Given the description of an element on the screen output the (x, y) to click on. 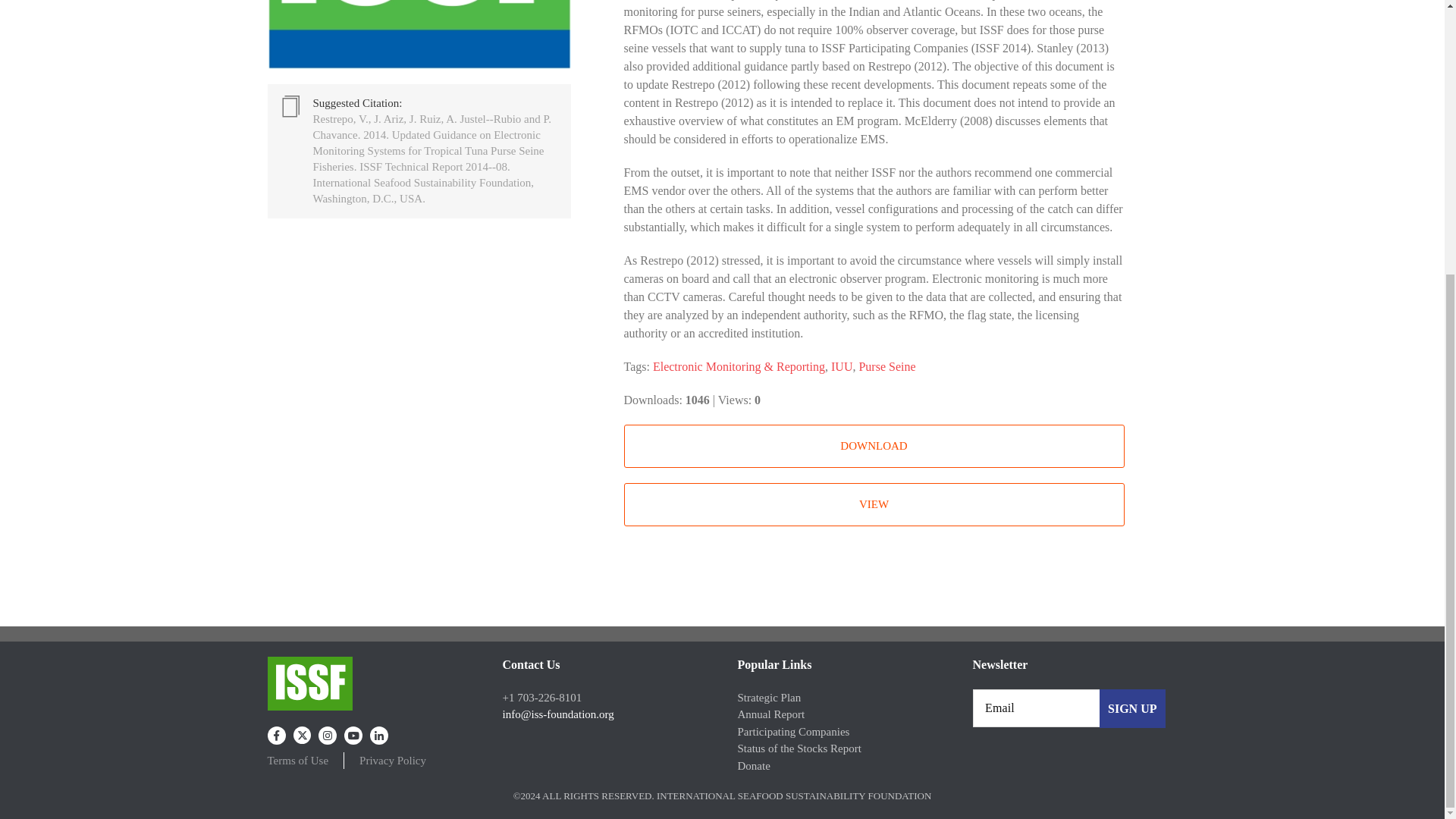
Sign Up (1131, 708)
